Given the description of an element on the screen output the (x, y) to click on. 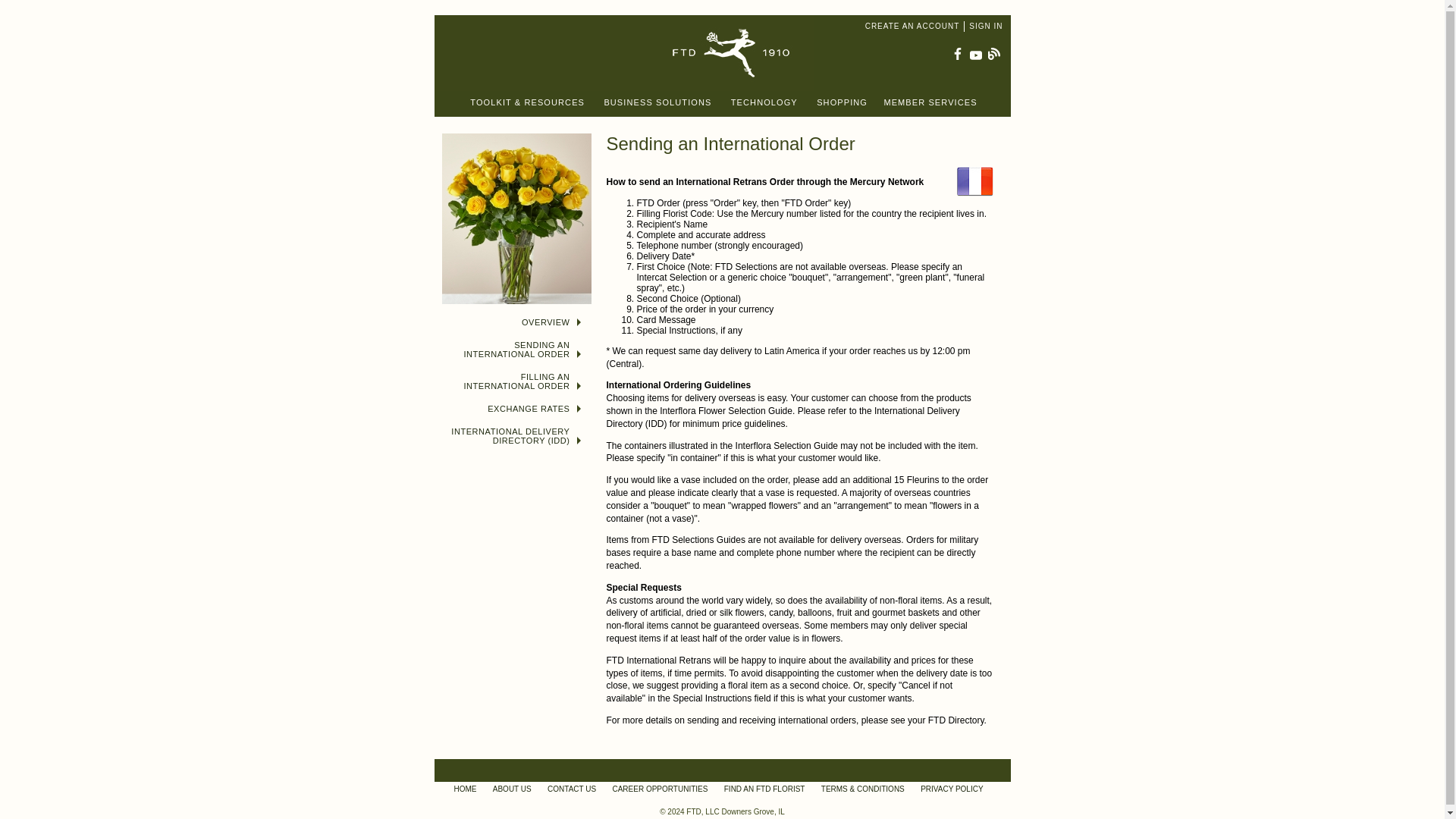
Francais (974, 181)
BUSINESS SOLUTIONS (659, 102)
TECHNOLOGY (767, 102)
CREATE AN ACCOUNT (913, 26)
SIGN IN (988, 26)
